Given the description of an element on the screen output the (x, y) to click on. 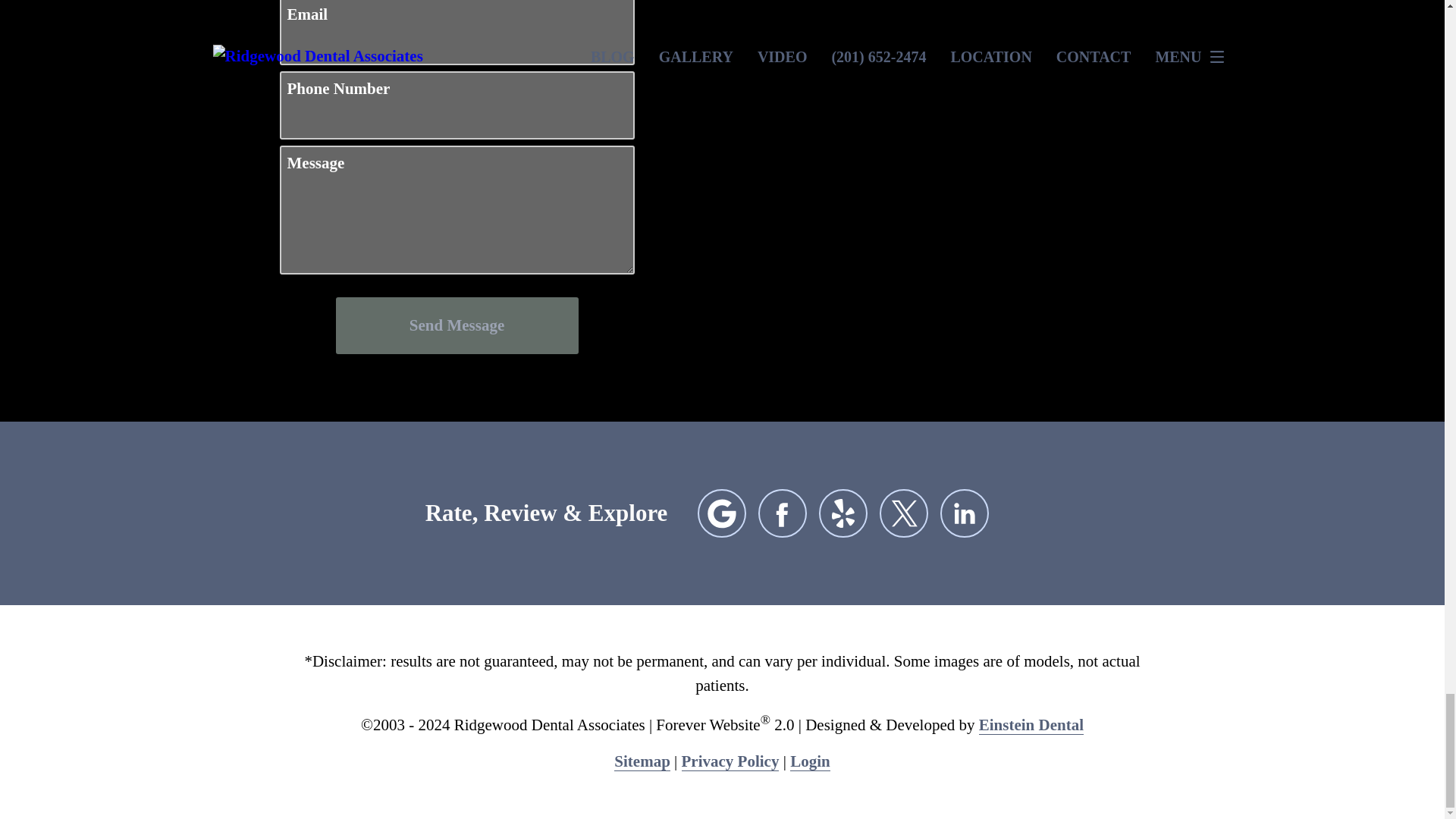
Send Message (456, 325)
Yelp (842, 512)
LinkedIn (964, 512)
Facebook (782, 512)
Twitter (903, 512)
Google (721, 512)
